Given the description of an element on the screen output the (x, y) to click on. 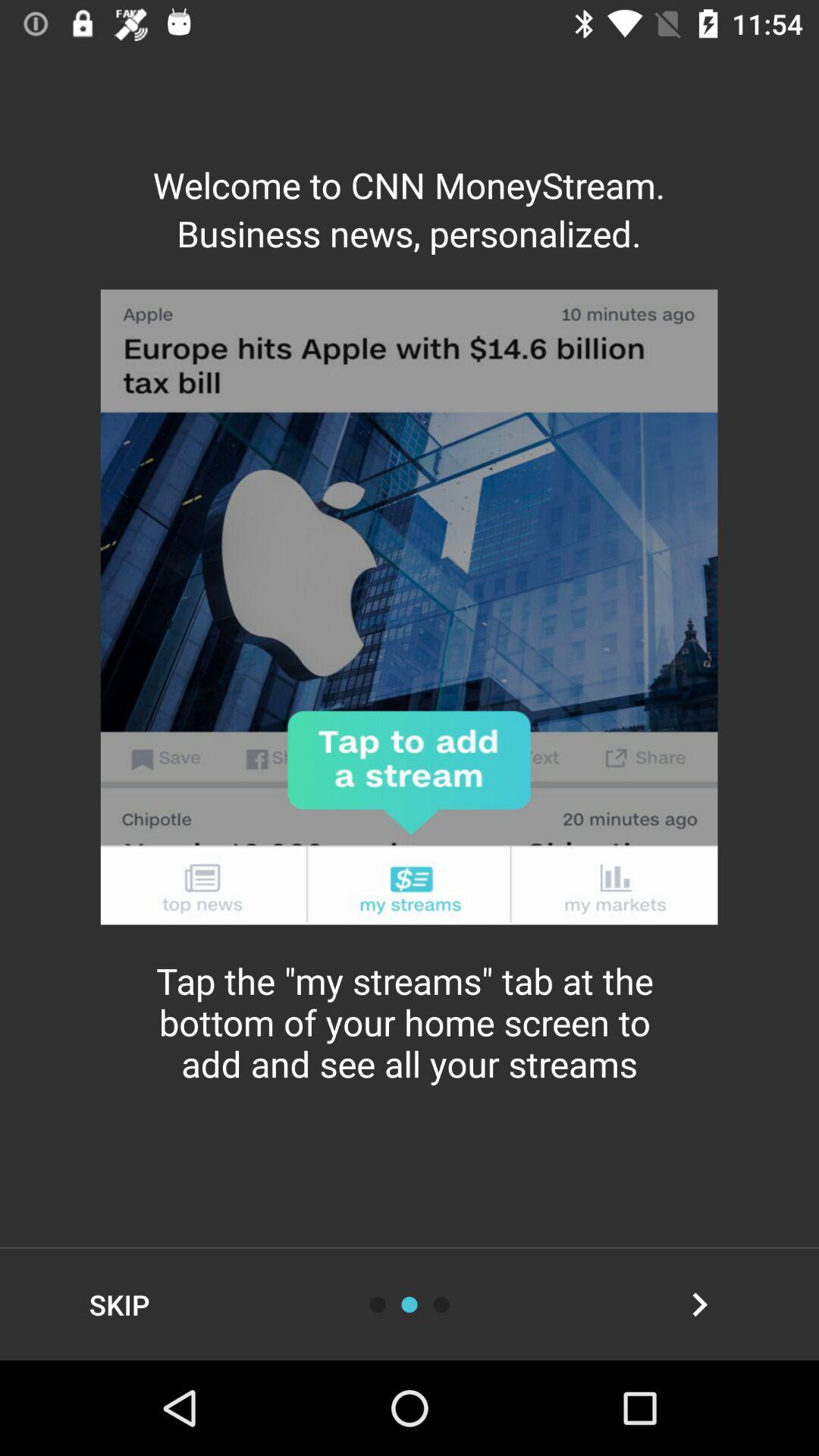
next (699, 1304)
